Given the description of an element on the screen output the (x, y) to click on. 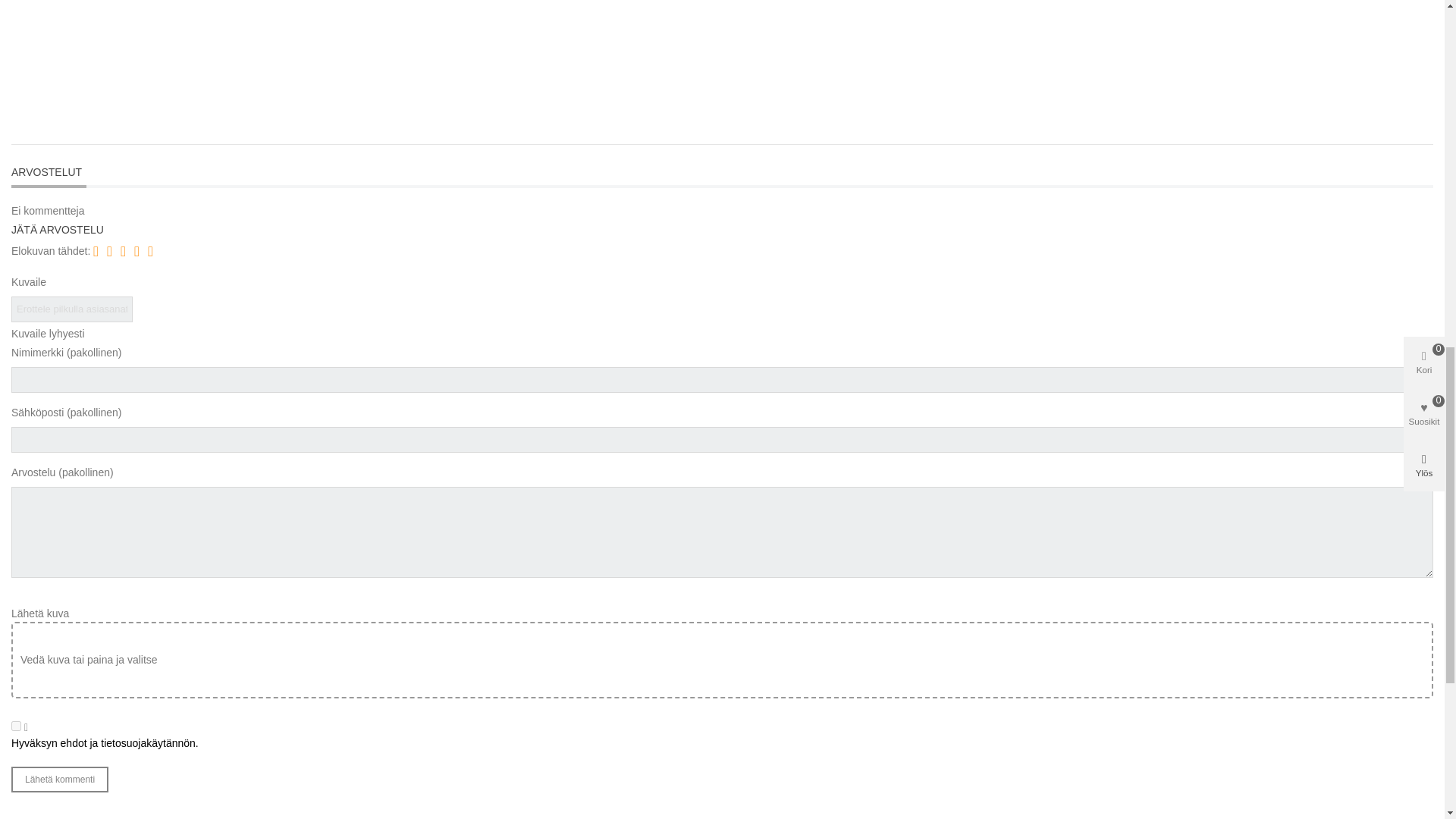
1 (16, 726)
